Given the description of an element on the screen output the (x, y) to click on. 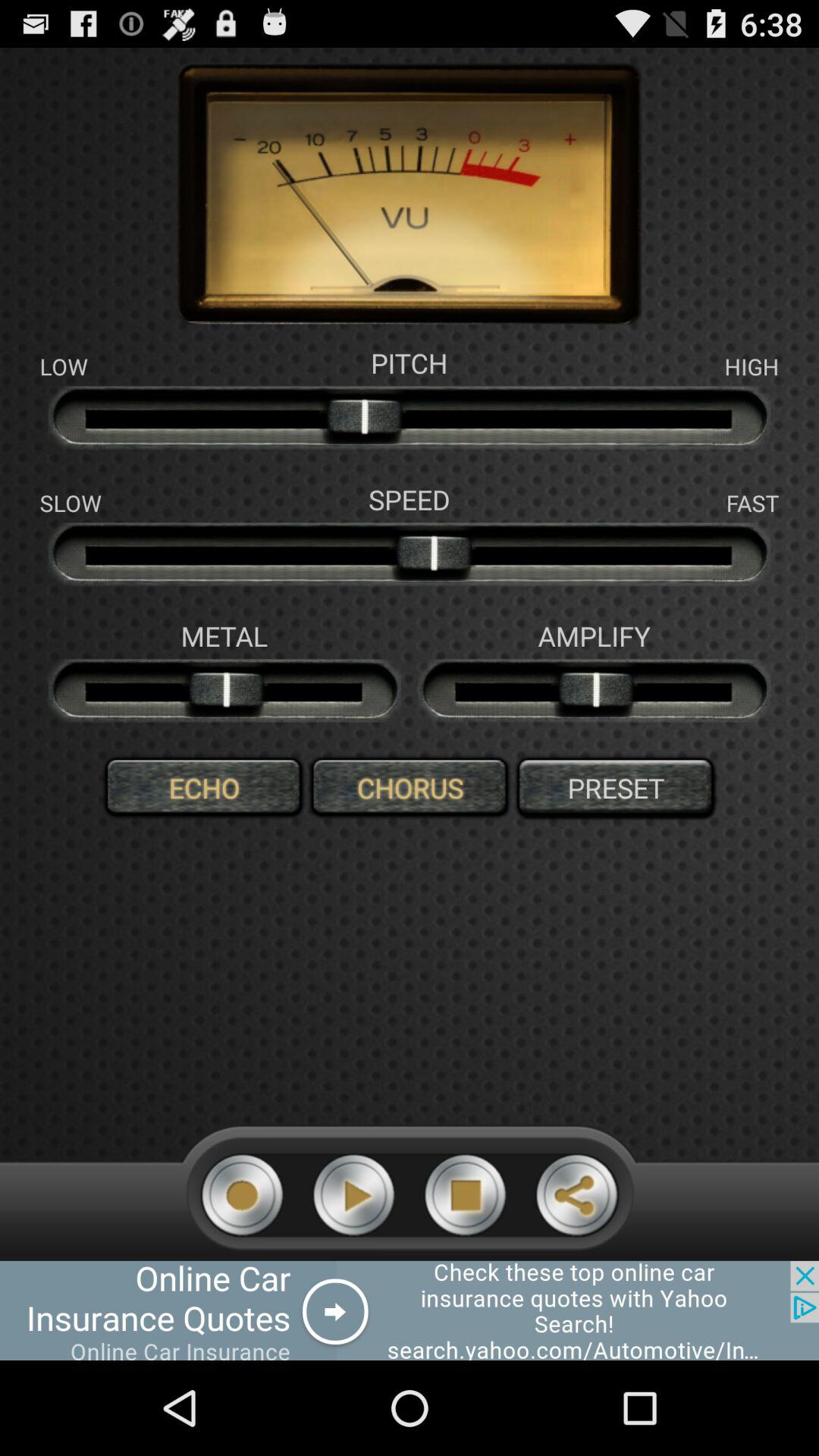
open advertisement (409, 1310)
